Given the description of an element on the screen output the (x, y) to click on. 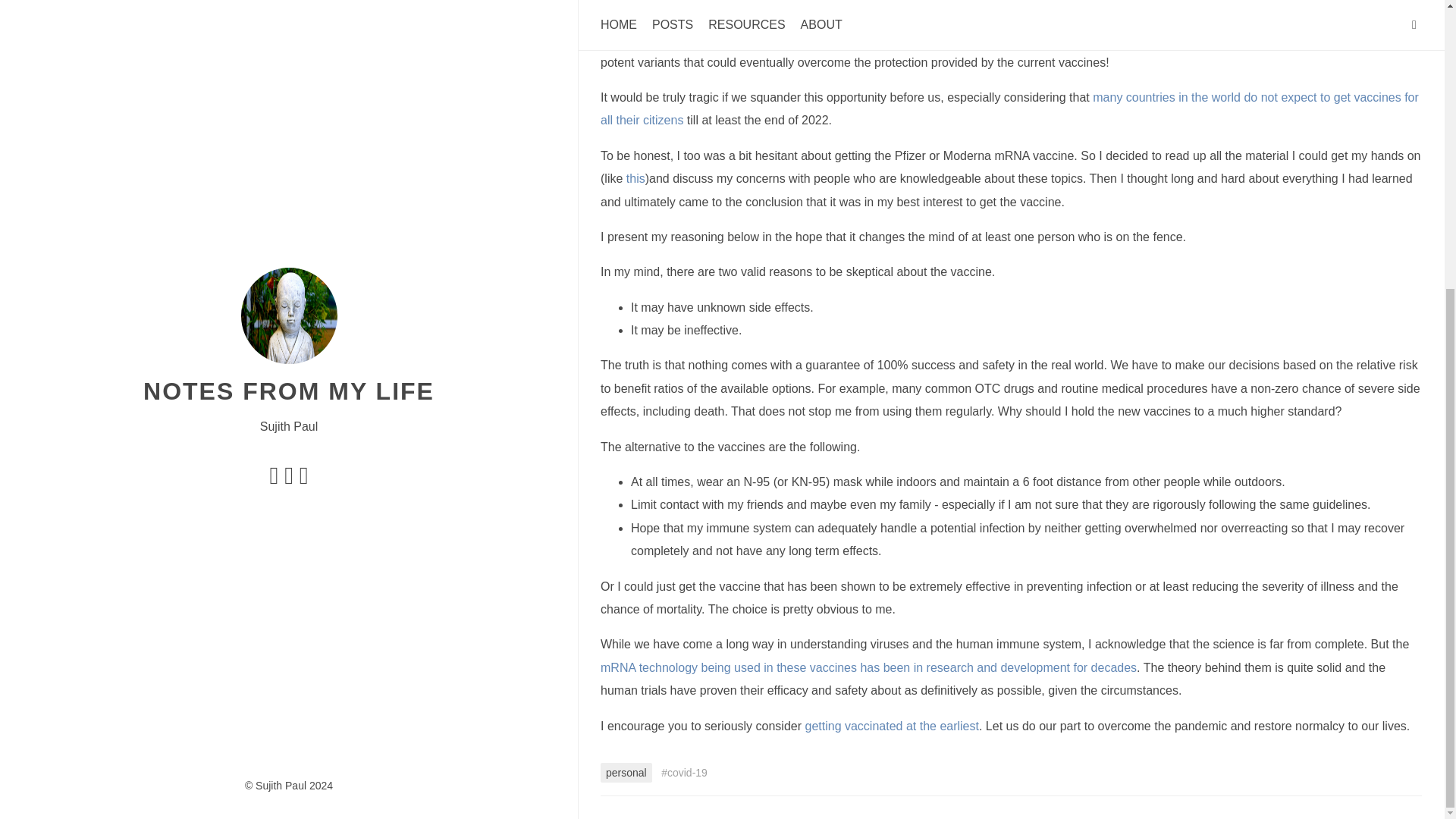
this (635, 177)
personal (625, 772)
covid-19 (684, 772)
getting vaccinated at the earliest (891, 725)
